Given the description of an element on the screen output the (x, y) to click on. 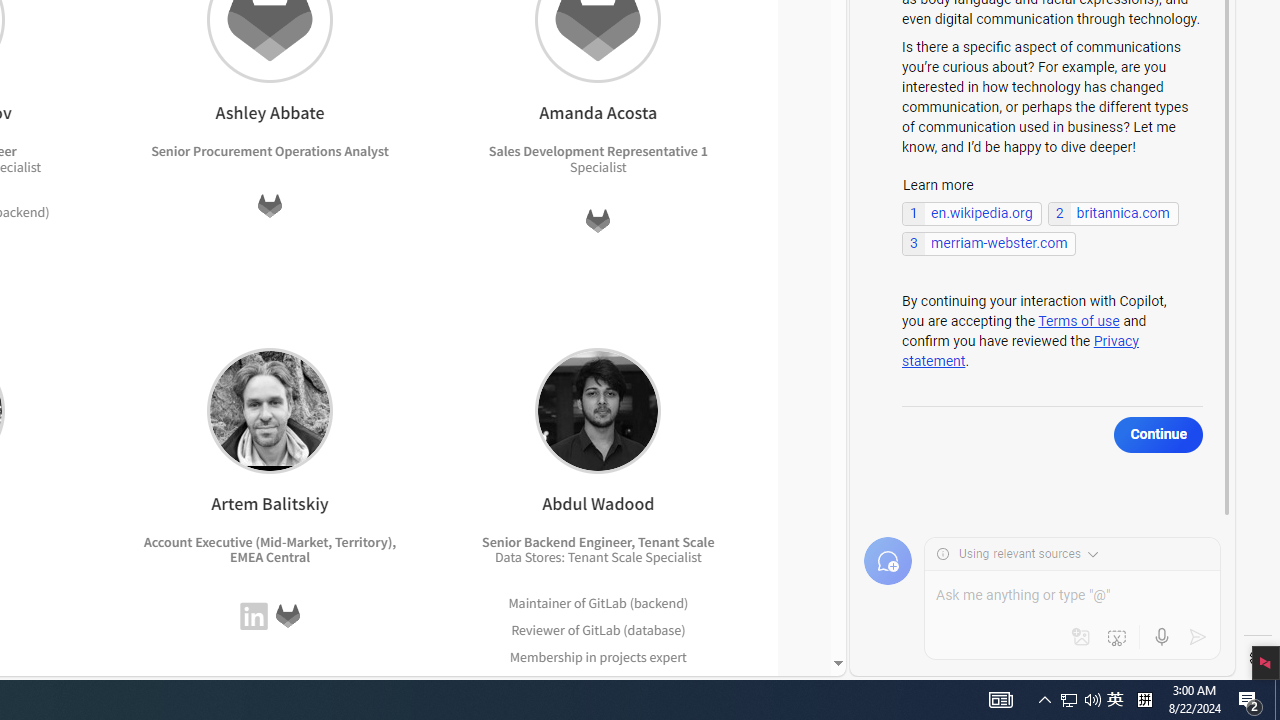
Membership in groups expert (598, 683)
Reviewer of GitLab (database) (598, 629)
Maintainer of GitLab (backend) (598, 601)
Reviewer (537, 629)
Specialist (673, 557)
Senior Backend Engineer (557, 541)
